Given the description of an element on the screen output the (x, y) to click on. 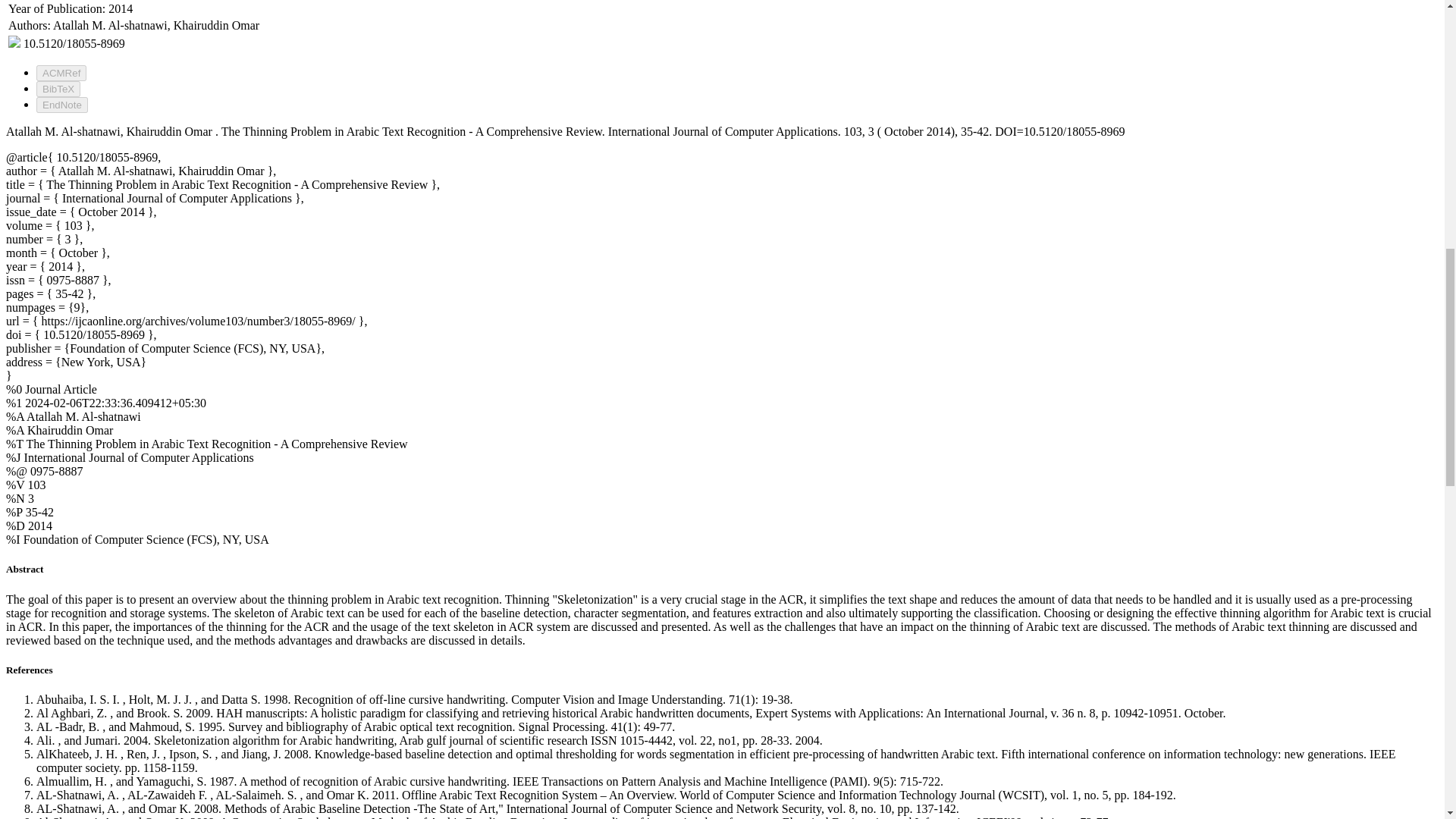
EndNote (61, 105)
BibTeX (58, 89)
ACMRef (60, 73)
